Given the description of an element on the screen output the (x, y) to click on. 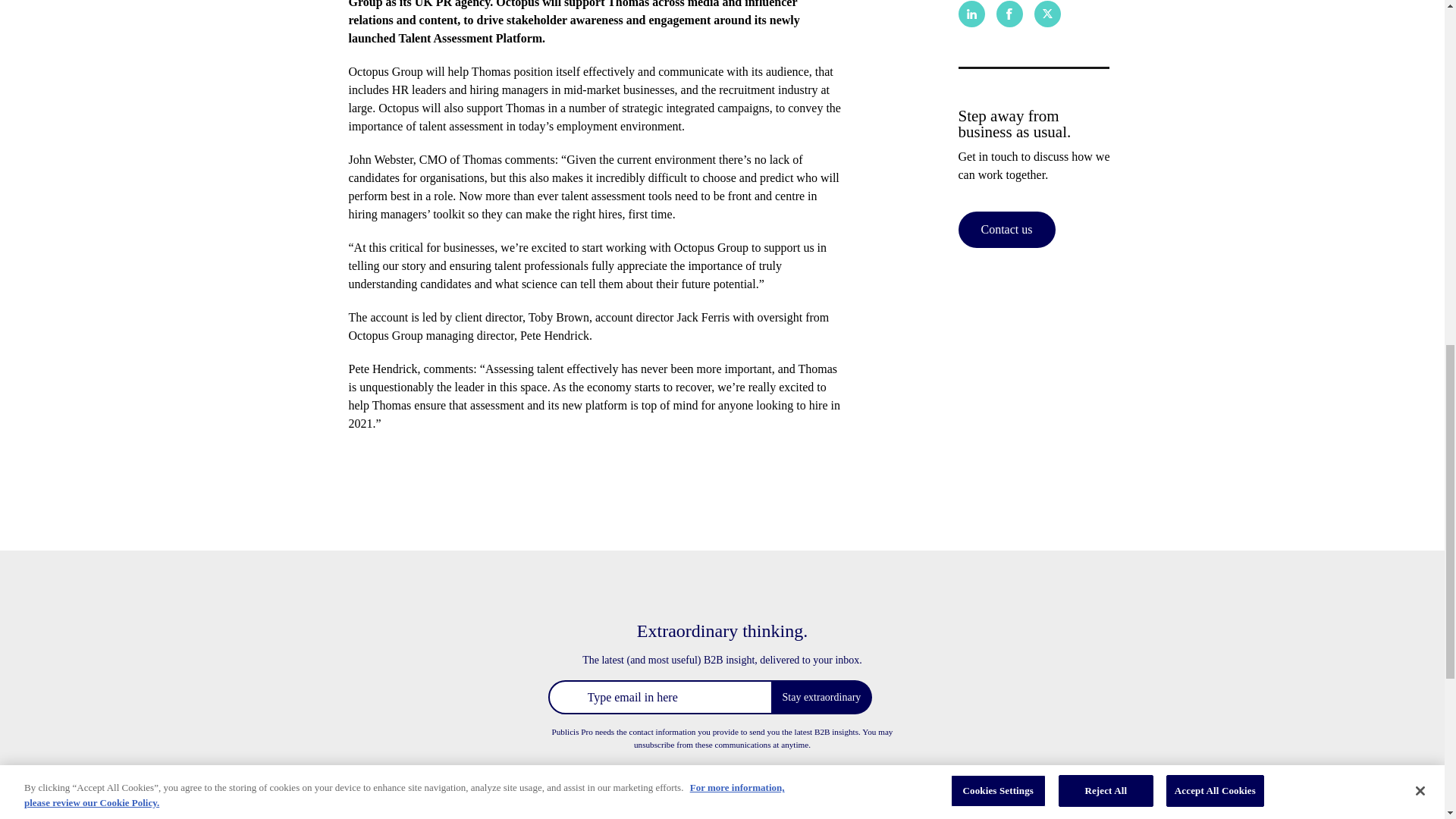
Contact us (1006, 229)
Stay extraordinary (821, 697)
Stay extraordinary (821, 697)
